Given the description of an element on the screen output the (x, y) to click on. 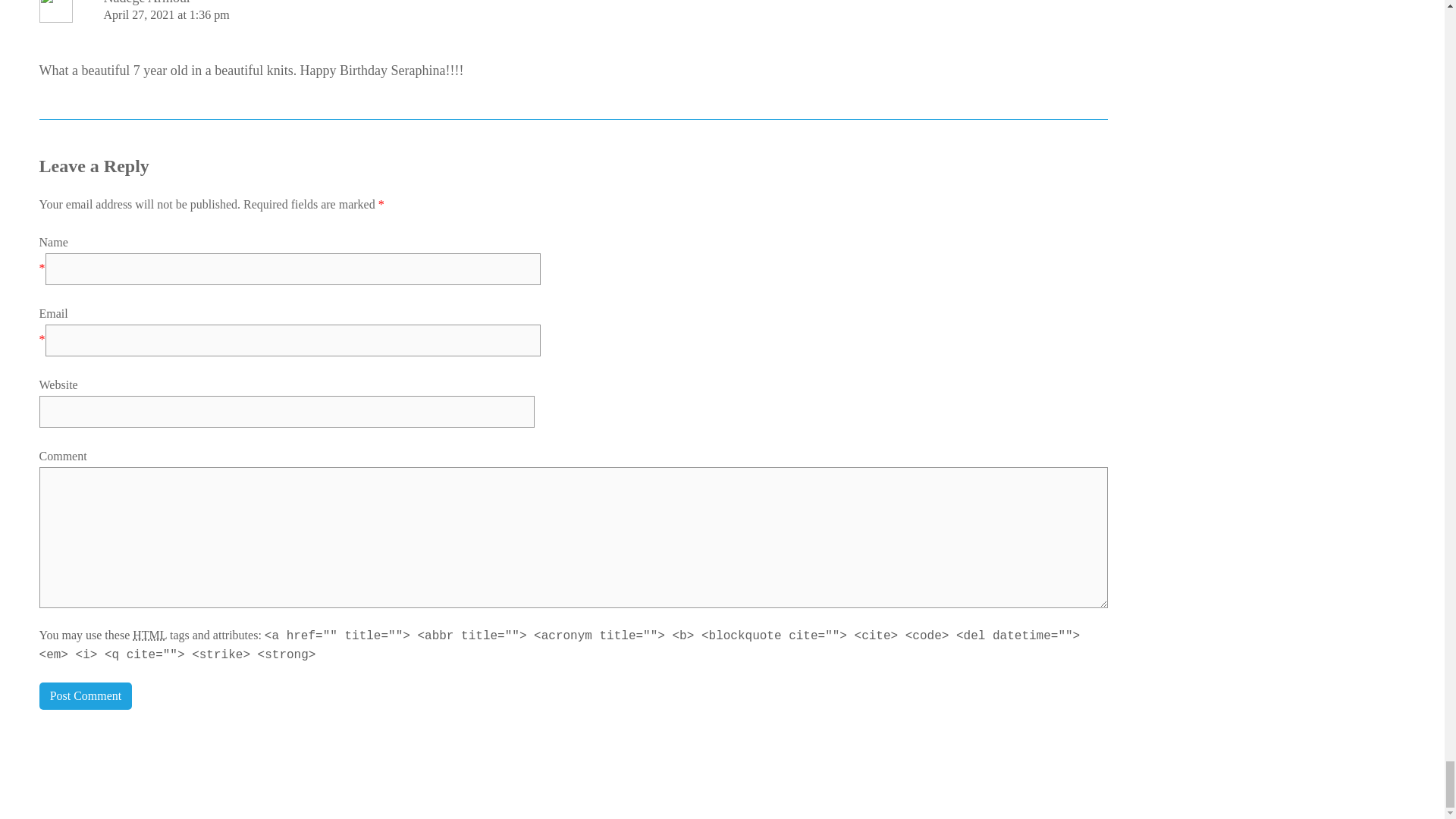
Post Comment (85, 696)
